Given the description of an element on the screen output the (x, y) to click on. 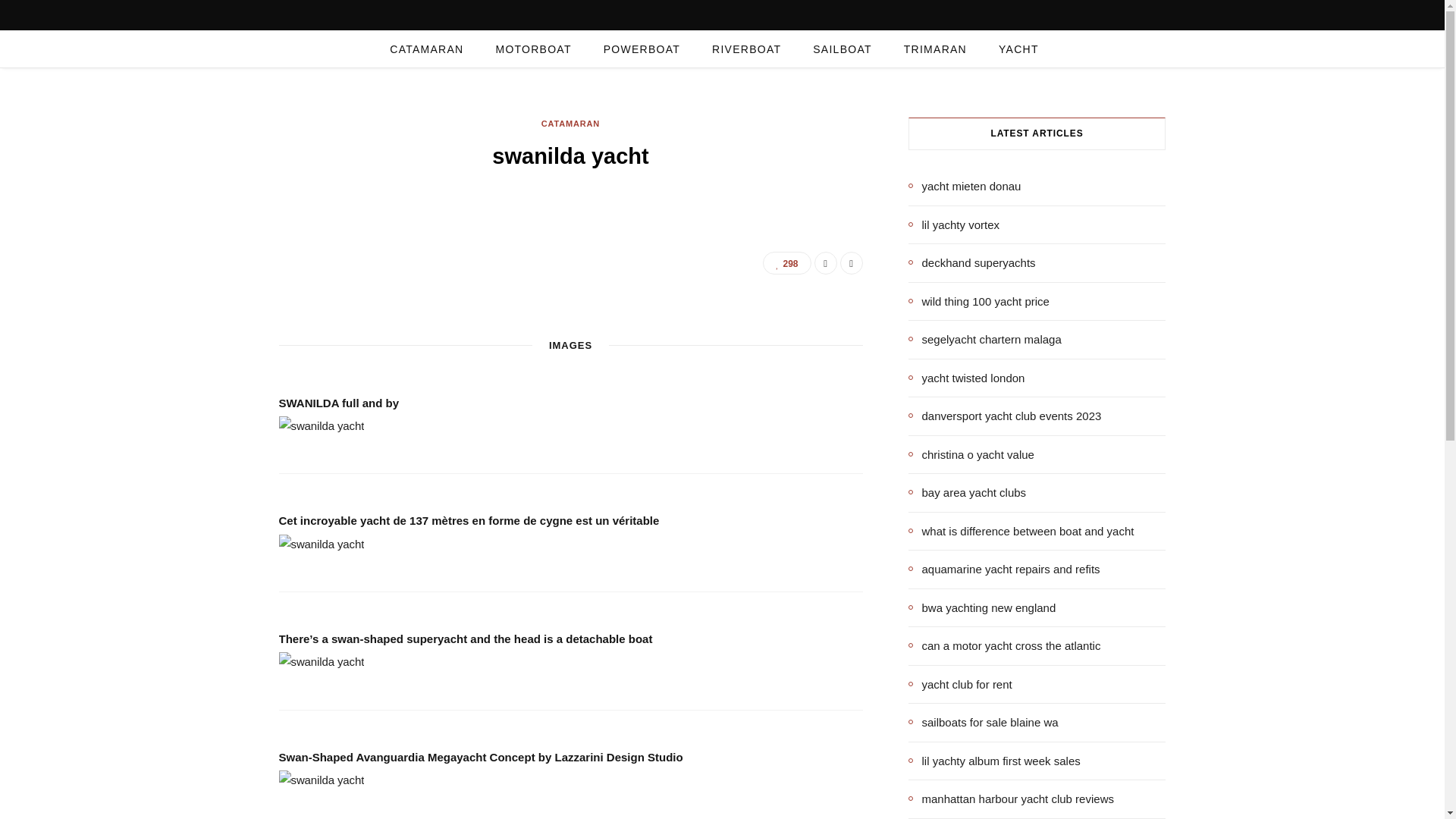
MOTORBOAT (532, 48)
swanilda yacht (322, 661)
deckhand superyachts (971, 262)
swanilda yacht (322, 425)
SAILBOAT (842, 48)
swanilda yacht (322, 544)
CATAMARAN (570, 123)
yacht club for rent (959, 684)
yacht mieten donau (965, 186)
yacht twisted london (966, 378)
